Given the description of an element on the screen output the (x, y) to click on. 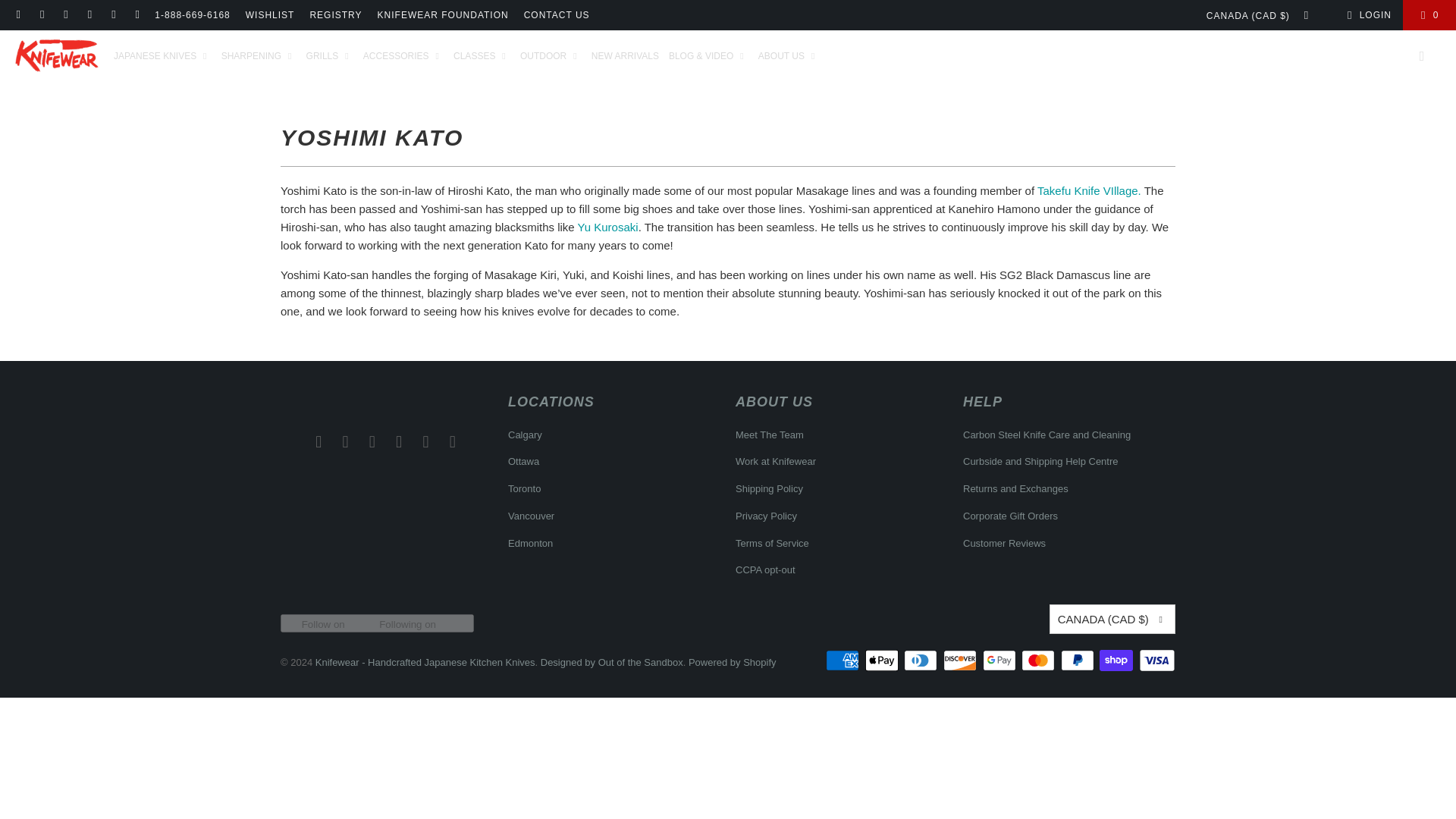
Discover (961, 660)
Knifewear - Handcrafted Japanese Kitchen Knives on Instagram (65, 14)
Email Knifewear - Handcrafted Japanese Kitchen Knives (318, 441)
American Express (843, 660)
Apple Pay (882, 660)
Knifewear - Handcrafted Japanese Kitchen Knives on Instagram (372, 441)
Knifewear - Handcrafted Japanese Kitchen Knives on YouTube (452, 441)
Knifewear - Handcrafted Japanese Kitchen Knives on TikTok (89, 14)
Knifewear - Handcrafted Japanese Kitchen Knives on Facebook (345, 441)
Visa (1156, 660)
